Given the description of an element on the screen output the (x, y) to click on. 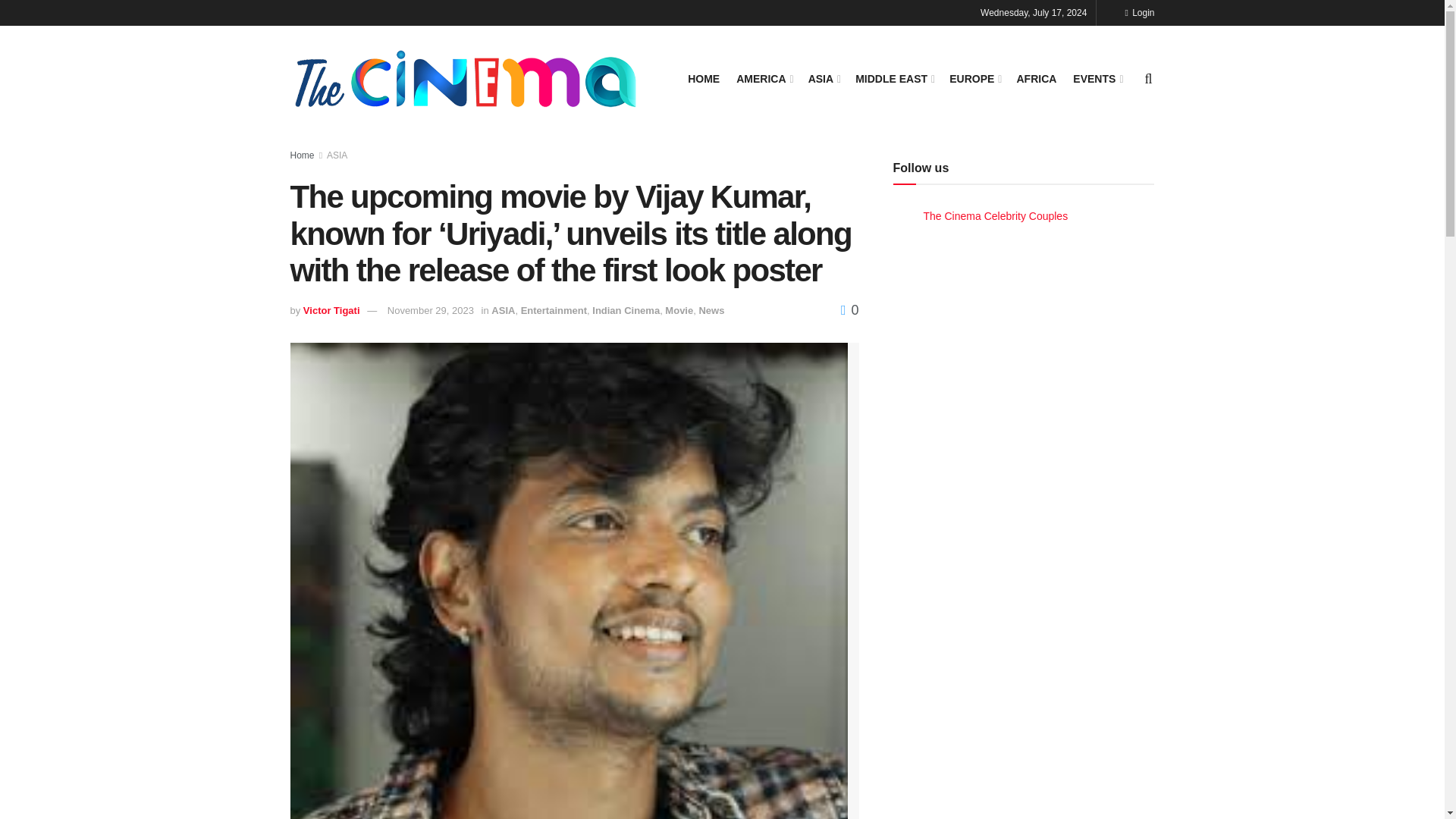
AMERICA (763, 78)
ASIA (824, 78)
HOME (703, 78)
Login (1139, 12)
